Given the description of an element on the screen output the (x, y) to click on. 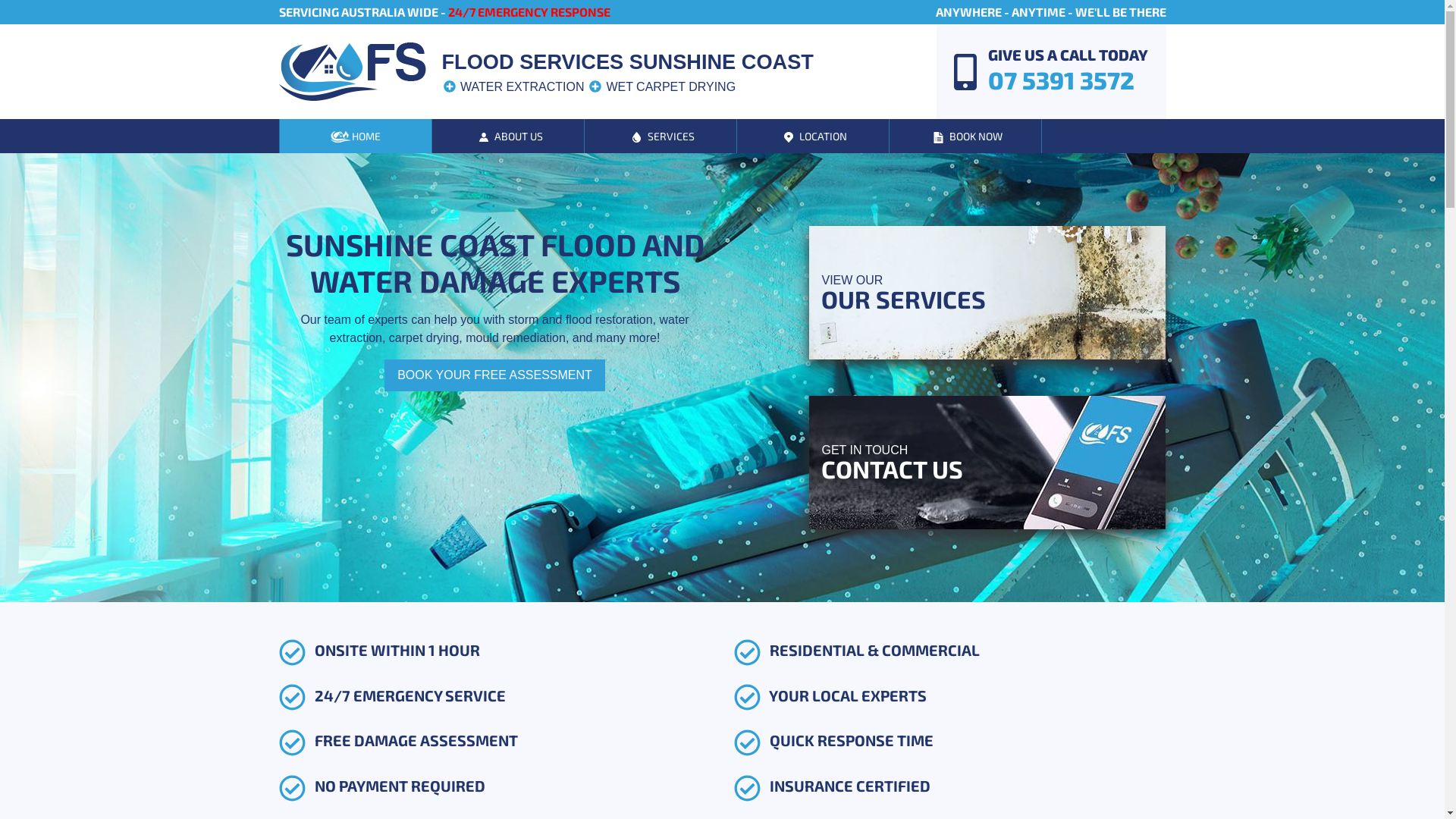
GET IN TOUCH
CONTACT US Element type: text (987, 462)
BOOK YOUR FREE ASSESSMENT Element type: text (494, 375)
LOCATION Element type: text (812, 136)
GIVE US A CALL TODAY
07 5391 3572 Element type: text (1044, 71)
HOME Element type: text (354, 136)
VIEW OUR
OUR SERVICES Element type: text (987, 292)
ABOUT US Element type: text (507, 136)
SERVICES Element type: text (659, 136)
BOOK NOW Element type: text (964, 136)
